Given the description of an element on the screen output the (x, y) to click on. 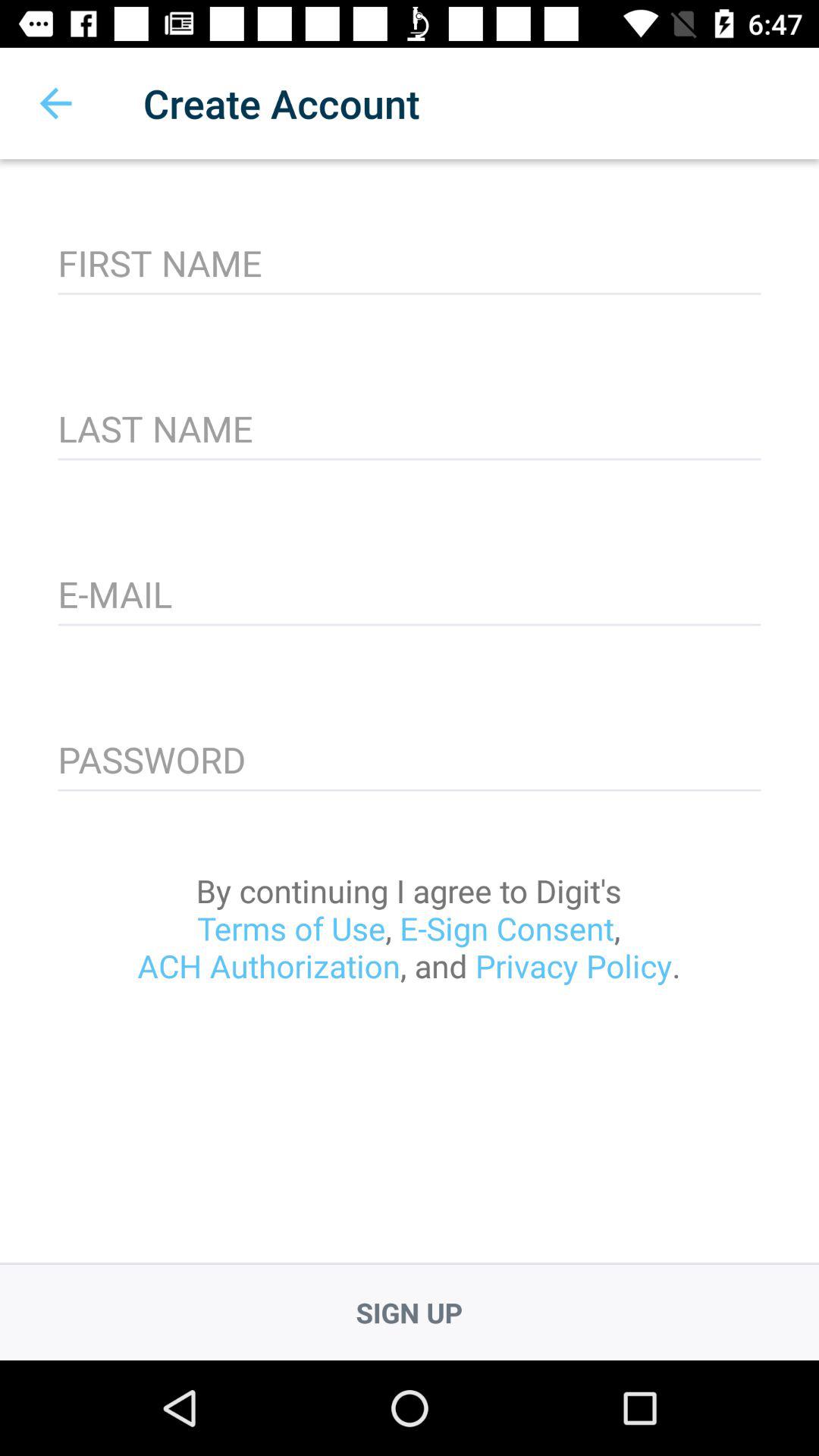
swipe to the sign up icon (409, 1312)
